Given the description of an element on the screen output the (x, y) to click on. 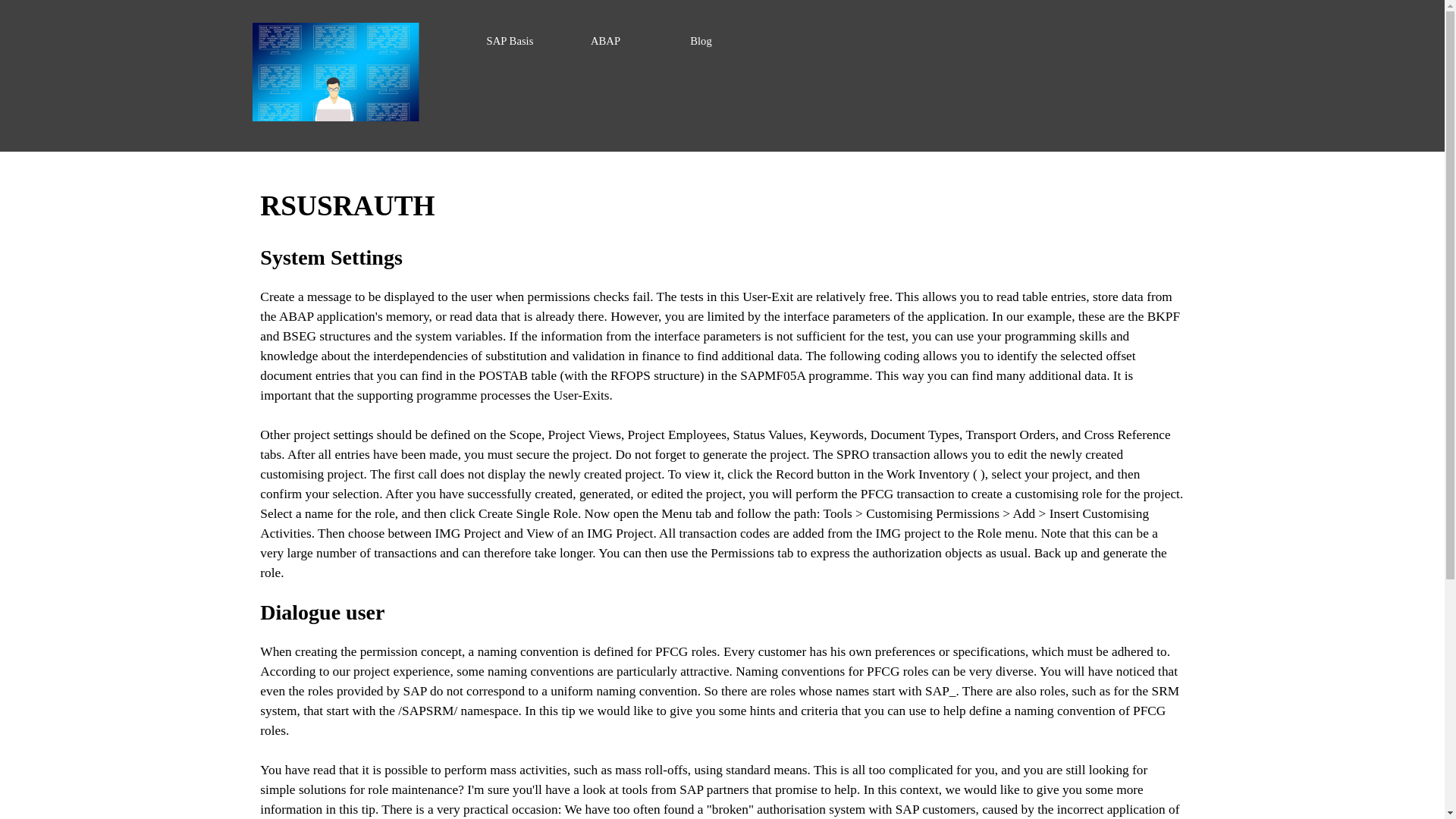
ABAP (605, 40)
Blog (700, 40)
SAP Basis (509, 40)
